Given the description of an element on the screen output the (x, y) to click on. 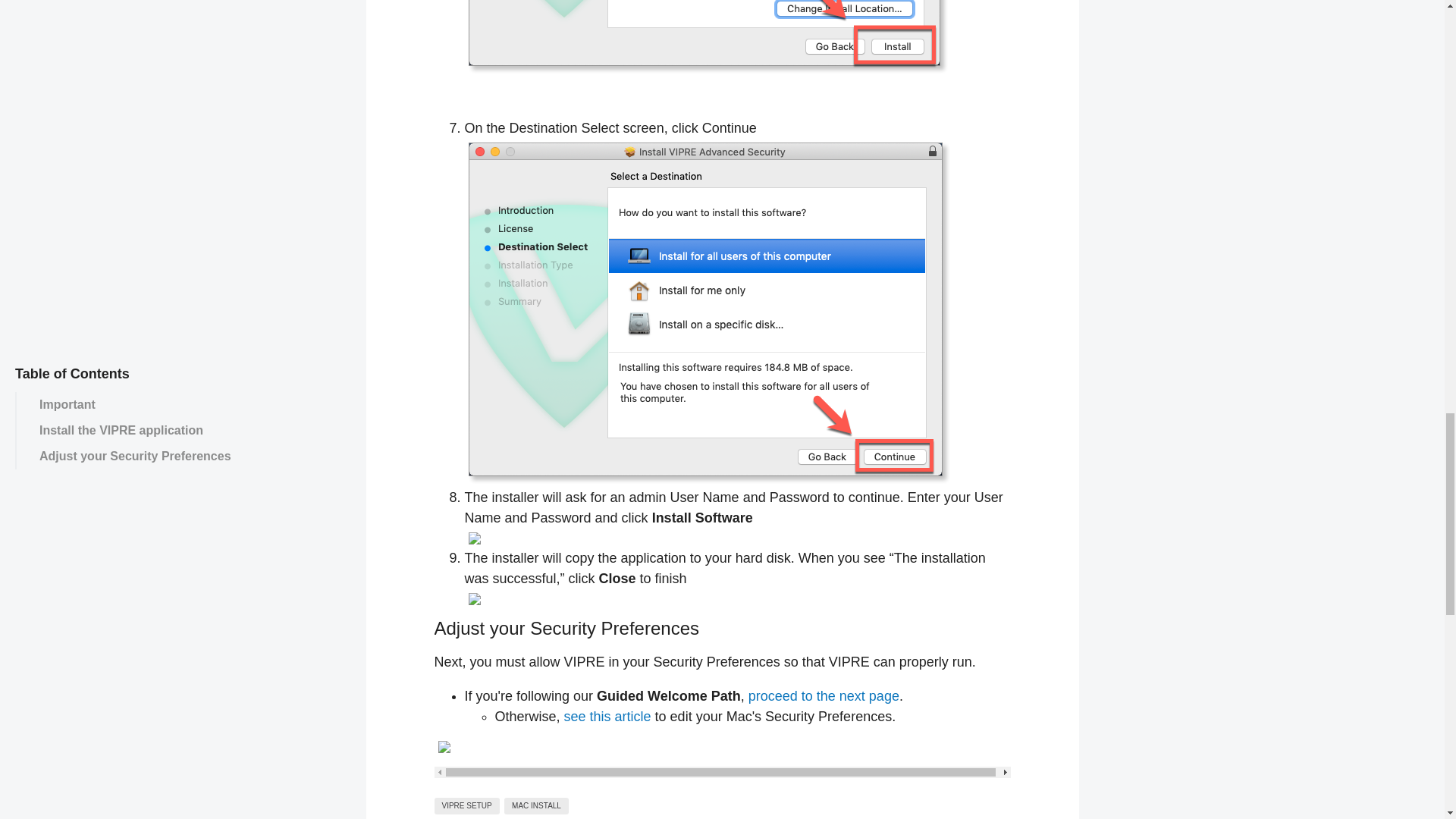
Install VIPRE on your Mac (823, 695)
proceed to the next page (823, 695)
MAC INSTALL (536, 805)
Allow VIPRE in your Mac Security Preferences (607, 716)
see this article (607, 716)
VIPRE SETUP (466, 805)
